Given the description of an element on the screen output the (x, y) to click on. 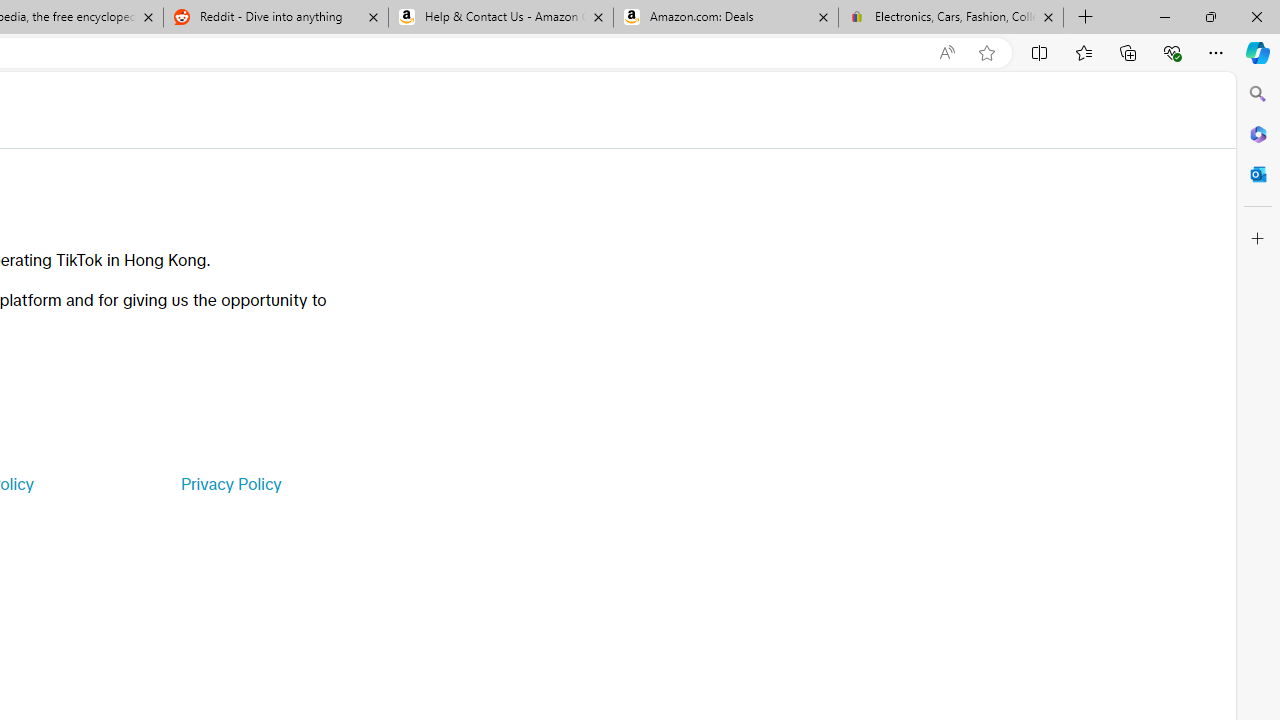
Reddit - Dive into anything (275, 17)
Help & Contact Us - Amazon Customer Service (501, 17)
Privacy Policy (230, 484)
